Given the description of an element on the screen output the (x, y) to click on. 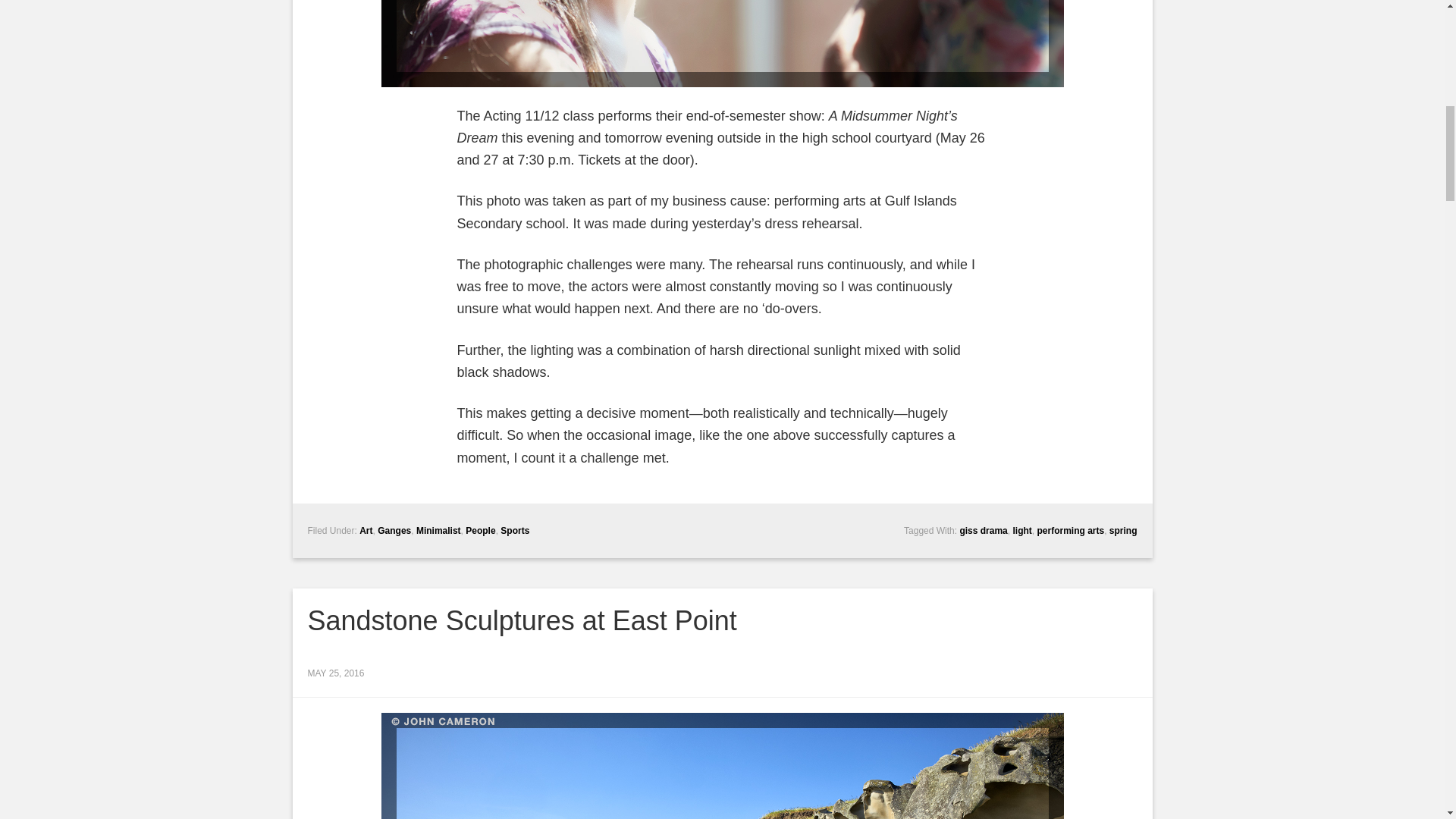
People (480, 530)
Ganges (393, 530)
Sandstone Sculptures at East Point (521, 620)
performing arts (1069, 530)
light (1020, 530)
spring (1123, 530)
Minimalist (438, 530)
giss drama (983, 530)
Sports (514, 530)
Art (365, 530)
